Given the description of an element on the screen output the (x, y) to click on. 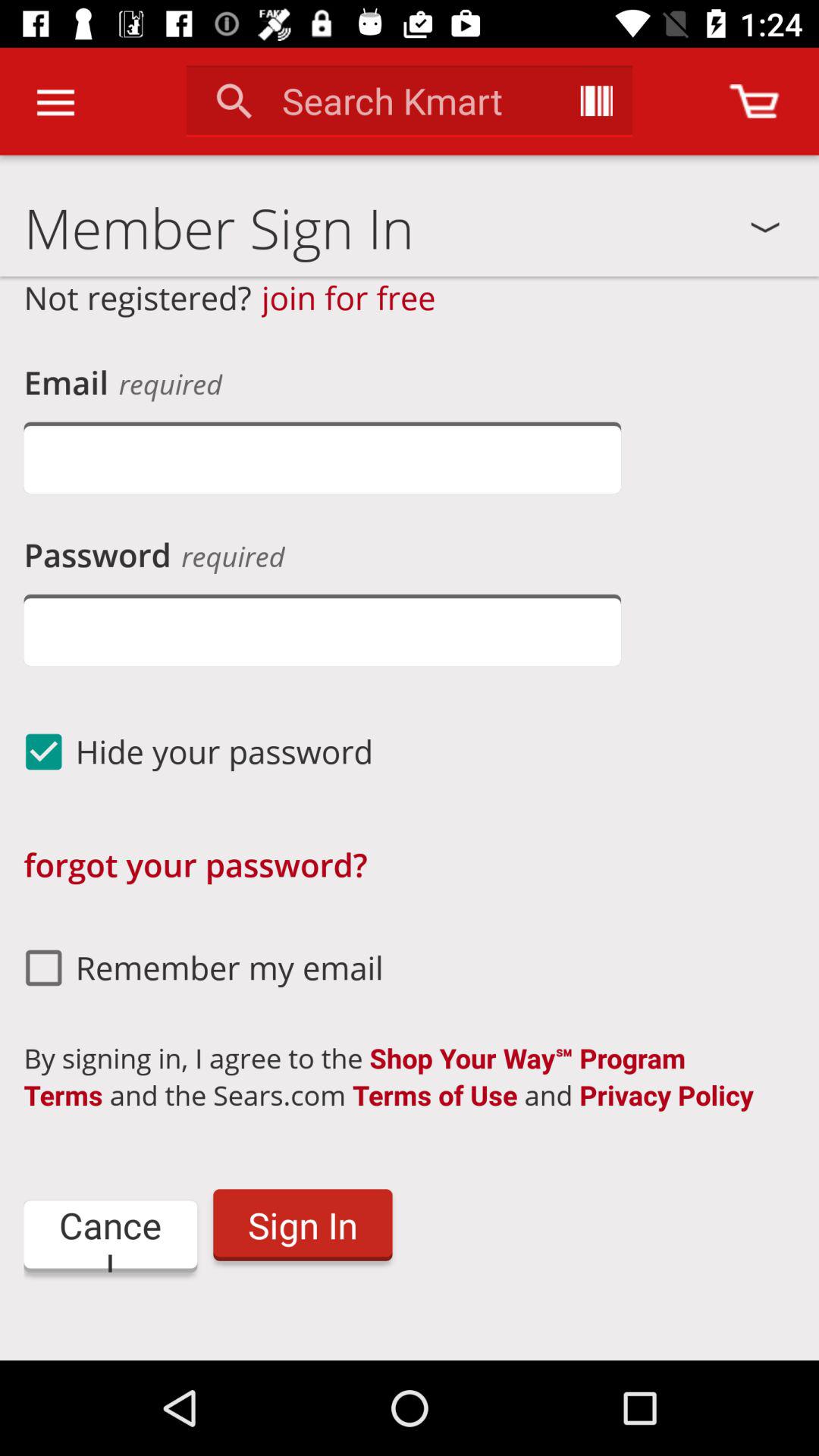
select icon below the password item (322, 630)
